Given the description of an element on the screen output the (x, y) to click on. 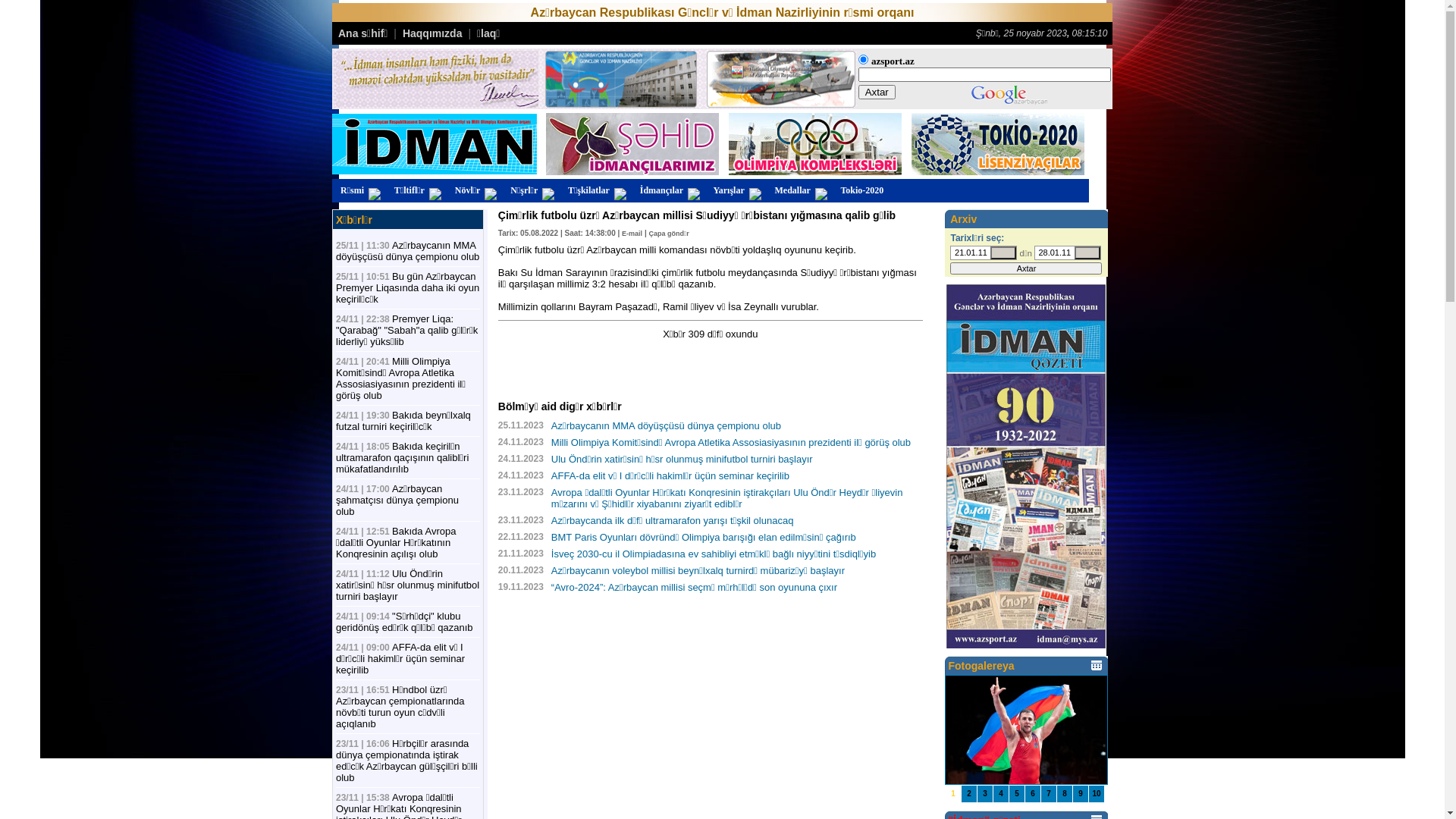
8 Element type: text (1064, 793)
  Axtar   Element type: text (876, 91)
1 Element type: text (952, 793)
3 Element type: text (984, 793)
4 Element type: text (1000, 793)
2 Element type: text (968, 793)
the site Element type: text (863, 59)
5 Element type: text (1016, 793)
E-mail Element type: text (631, 232)
6 Element type: text (1032, 793)
  Tokio-2020   Element type: text (862, 190)
9 Element type: text (1080, 793)
Axtar Element type: text (1025, 268)
10 Element type: text (1096, 793)
7 Element type: text (1048, 793)
  Medallar   Element type: text (799, 190)
